Given the description of an element on the screen output the (x, y) to click on. 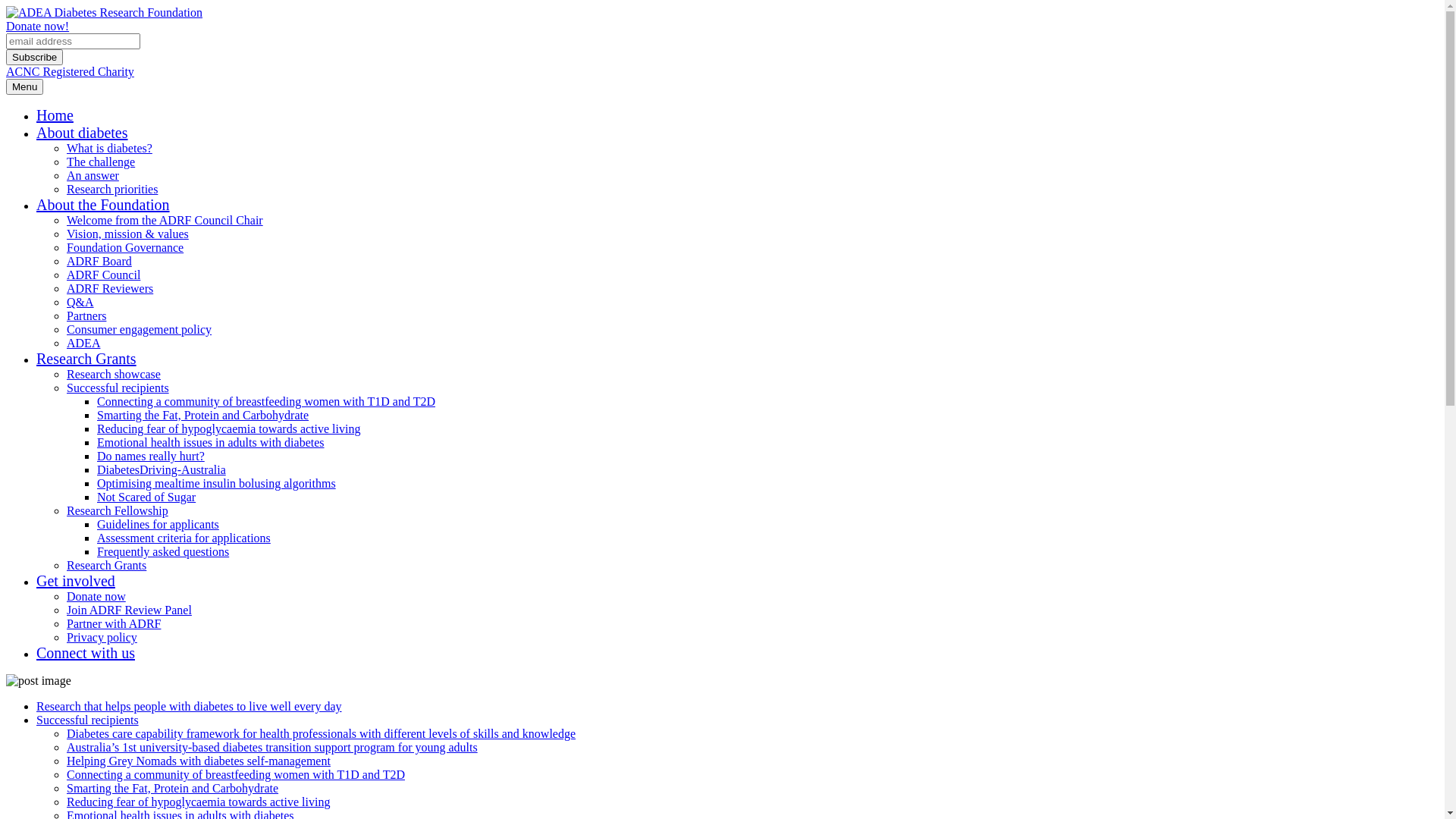
Not Scared of Sugar Element type: text (146, 496)
DiabetesDriving-Australia Element type: text (161, 469)
Research showcase Element type: text (113, 373)
ACNC Registered Charity Element type: text (70, 71)
Consumer engagement policy Element type: text (138, 329)
ADRF Council Element type: text (103, 274)
Subscribe Element type: text (34, 57)
Home Element type: text (54, 114)
Reducing fear of hypoglycaemia towards active living Element type: text (197, 801)
Donate now Element type: text (95, 595)
Helping Grey Nomads with diabetes self-management Element type: text (198, 760)
Research Grants Element type: text (106, 564)
Privacy policy Element type: text (101, 636)
About diabetes Element type: text (82, 132)
Assessment criteria for applications Element type: text (183, 537)
Optimising mealtime insulin bolusing algorithms Element type: text (216, 482)
Partner with ADRF Element type: text (113, 623)
Menu Element type: text (24, 86)
Successful recipients Element type: text (87, 719)
ADRF Reviewers Element type: text (109, 288)
Emotional health issues in adults with diabetes Element type: text (210, 442)
Connect with us Element type: text (85, 652)
Research Fellowship Element type: text (117, 510)
Partners Element type: text (86, 315)
Successful recipients Element type: text (117, 387)
Research priorities Element type: text (111, 188)
ADEA Element type: text (83, 342)
Get involved Element type: text (75, 580)
Join ADRF Review Panel Element type: text (128, 609)
Research Grants Element type: text (86, 358)
About the Foundation Element type: text (102, 204)
Foundation Governance Element type: text (124, 247)
ADRF Board Element type: text (98, 260)
Q&A Element type: text (80, 301)
Guidelines for applicants Element type: text (158, 523)
Reducing fear of hypoglycaemia towards active living Element type: text (228, 428)
Donate now! Element type: text (37, 25)
Smarting the Fat, Protein and Carbohydrate Element type: text (202, 414)
Frequently asked questions Element type: text (163, 551)
The challenge Element type: text (100, 161)
What is diabetes? Element type: text (109, 147)
Do names really hurt? Element type: text (150, 455)
Vision, mission & values Element type: text (127, 233)
Welcome from the ADRF Council Chair Element type: text (164, 219)
An answer Element type: text (92, 175)
Smarting the Fat, Protein and Carbohydrate Element type: text (172, 787)
